Given the description of an element on the screen output the (x, y) to click on. 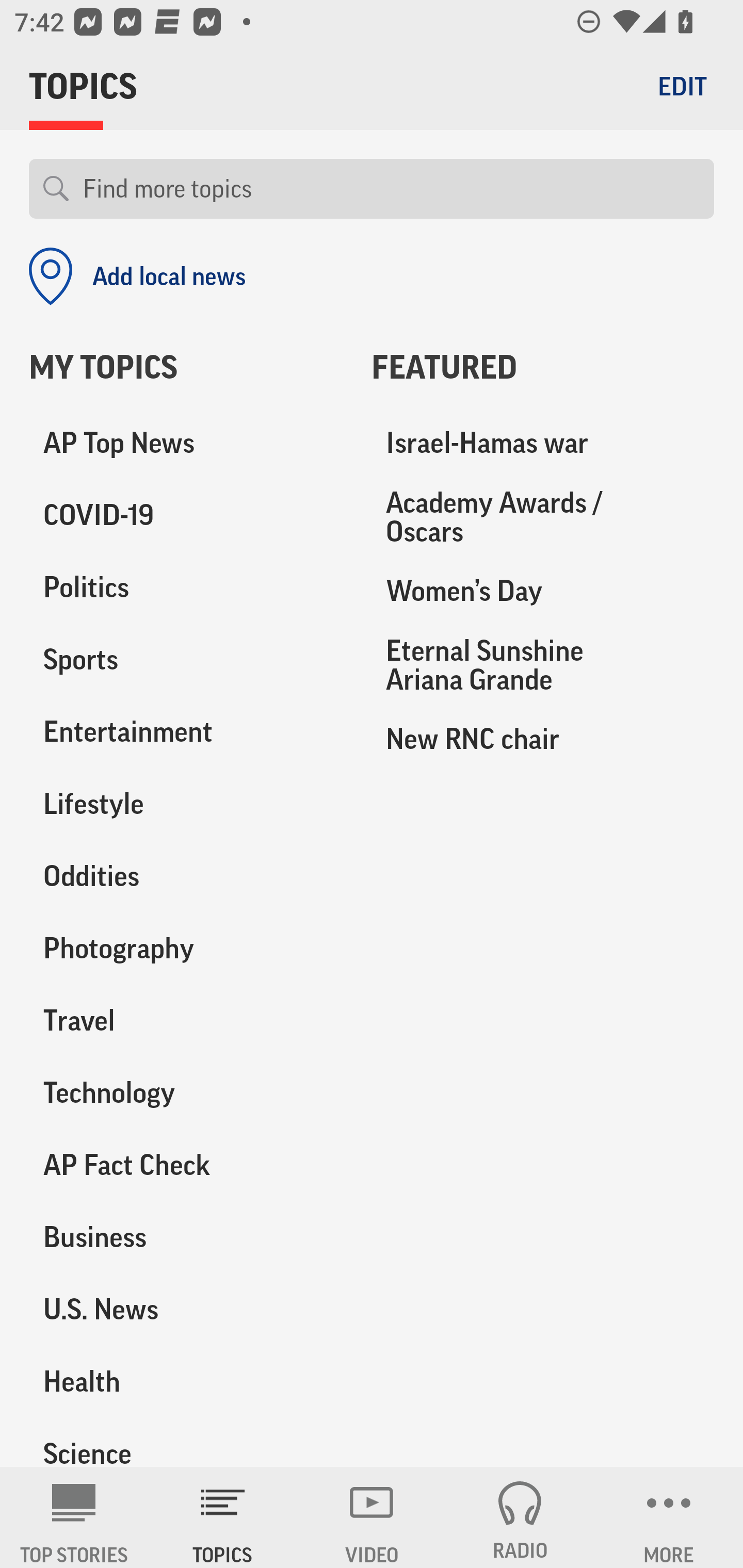
EDIT (682, 86)
Find more topics (391, 188)
Add local news (137, 276)
AP Top News (185, 443)
Israel-Hamas war (542, 443)
COVID-19 (185, 515)
Academy Awards / Oscars (542, 517)
Politics (185, 587)
Women’s Day (542, 591)
Sports (185, 660)
Eternal Sunshine Ariana Grande (542, 664)
Entertainment (185, 732)
New RNC chair (542, 738)
Lifestyle (185, 804)
Oddities (185, 876)
Photography (185, 948)
Travel (185, 1020)
Technology (185, 1092)
AP Fact Check (185, 1164)
Business (185, 1237)
U.S. News (185, 1309)
Health (185, 1381)
Science (185, 1442)
AP News TOP STORIES (74, 1517)
TOPICS (222, 1517)
VIDEO (371, 1517)
RADIO (519, 1517)
MORE (668, 1517)
